Given the description of an element on the screen output the (x, y) to click on. 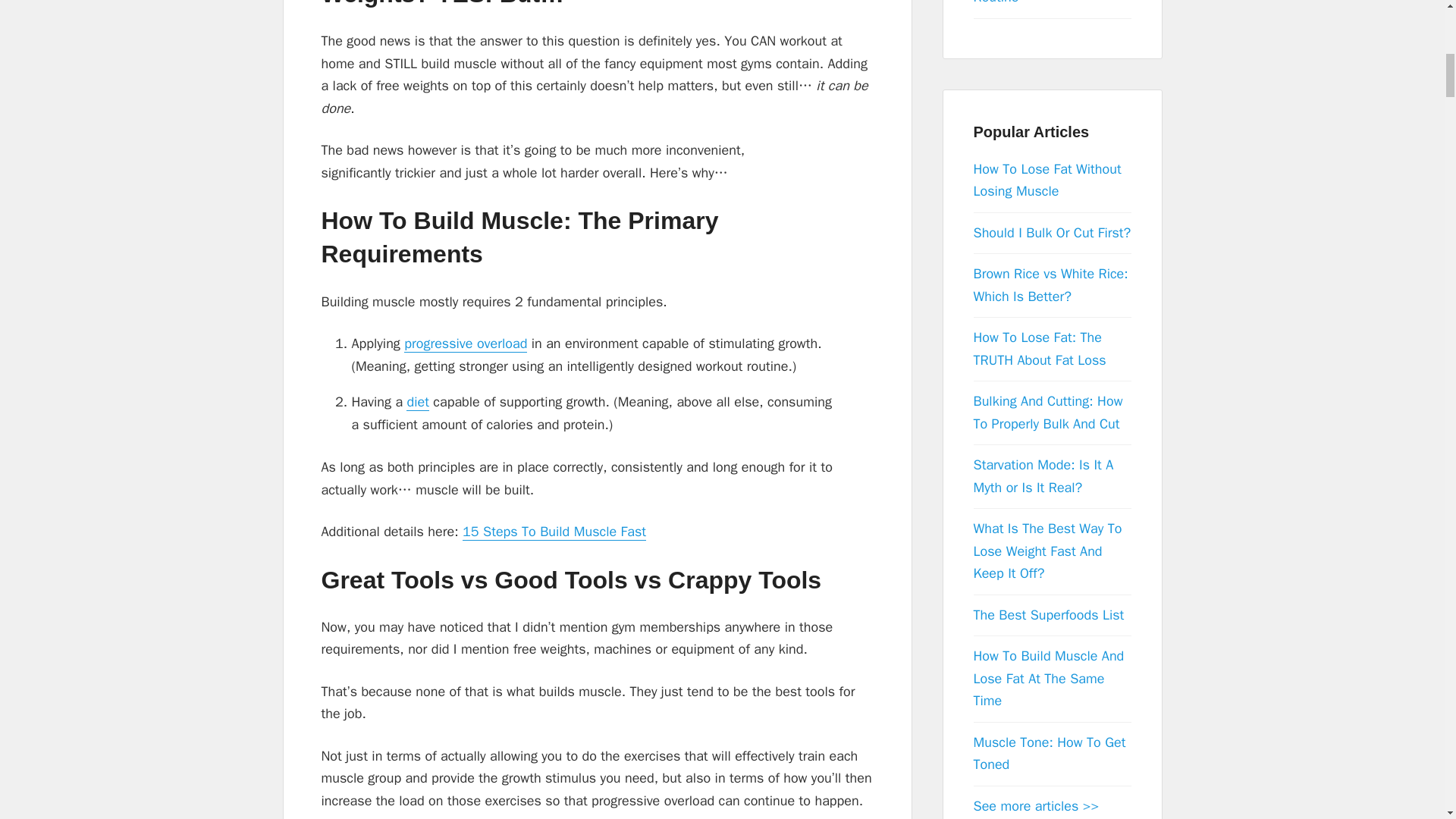
progressive overload (465, 343)
How To Create The Perfect Diet Plan For Your Workout Goal (417, 402)
diet (417, 402)
15 Steps To Build Muscle Fast (554, 531)
